Given the description of an element on the screen output the (x, y) to click on. 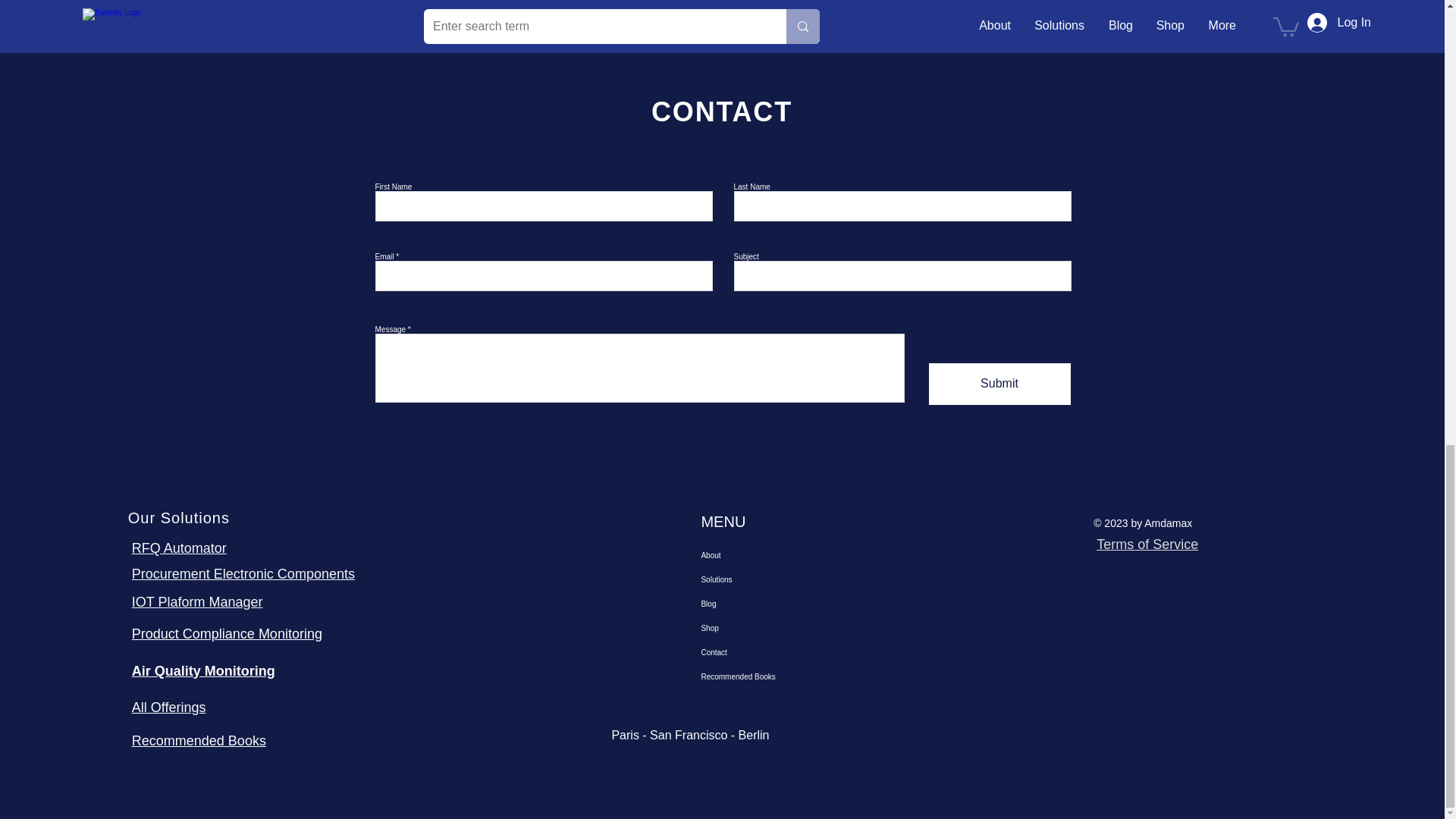
Solutions (771, 580)
Air Quality Monitoring (203, 670)
Our Solutions (179, 517)
Submit (999, 383)
All Offerings (169, 707)
RFQ Automator (179, 548)
Recommended Books (199, 740)
About (771, 555)
IOT Plaform Manager (197, 601)
Product Compliance Monitoring (226, 633)
